Given the description of an element on the screen output the (x, y) to click on. 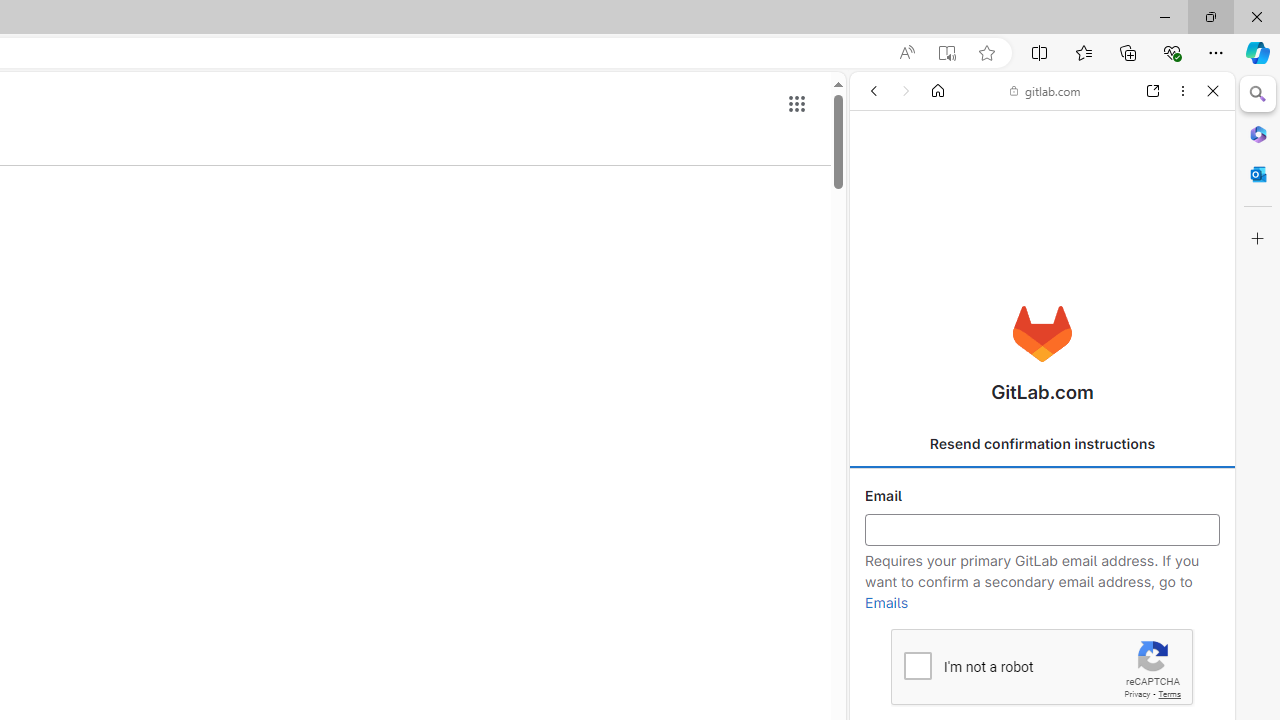
gitlab.com (1045, 90)
Confirmation Page (1042, 690)
Dashboard (1042, 641)
